Given the description of an element on the screen output the (x, y) to click on. 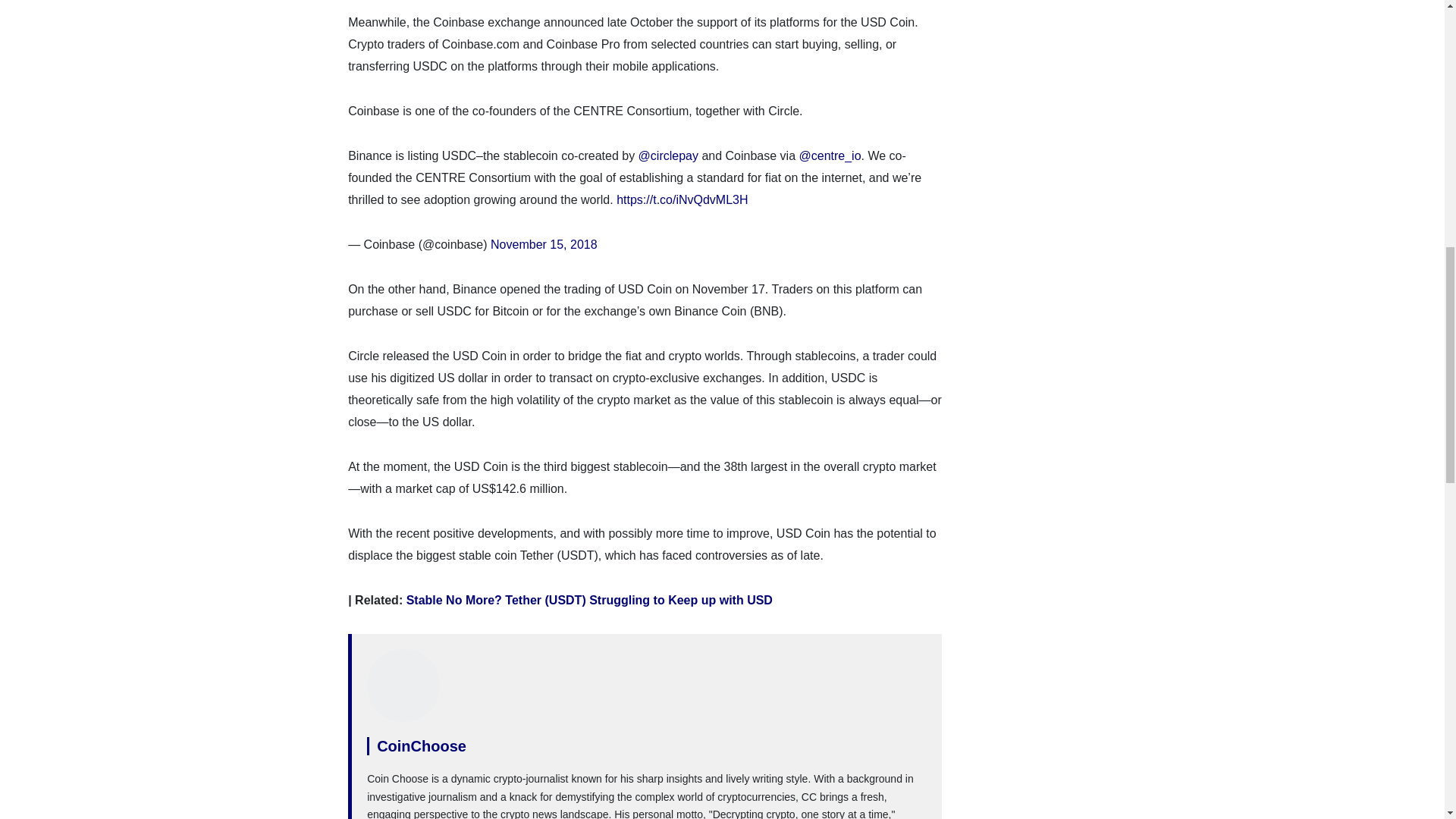
USDT Price Moving Away from USD (589, 599)
